Given the description of an element on the screen output the (x, y) to click on. 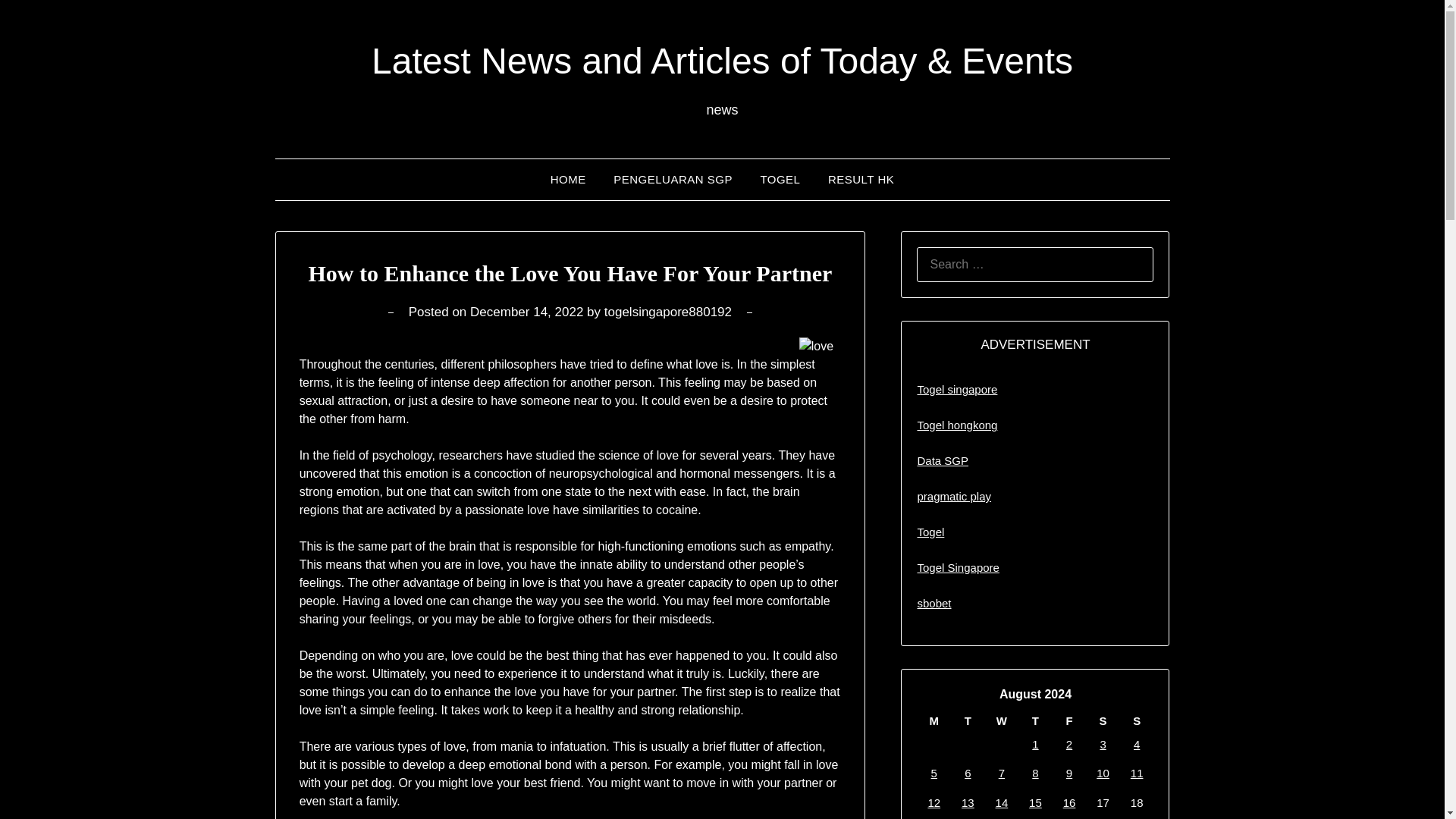
Search (38, 22)
Togel (930, 531)
16 (1068, 802)
Tuesday (967, 720)
Saturday (1102, 720)
Wednesday (1002, 720)
pragmatic play (954, 495)
11 (1136, 772)
Friday (1069, 720)
12 (933, 802)
